Given the description of an element on the screen output the (x, y) to click on. 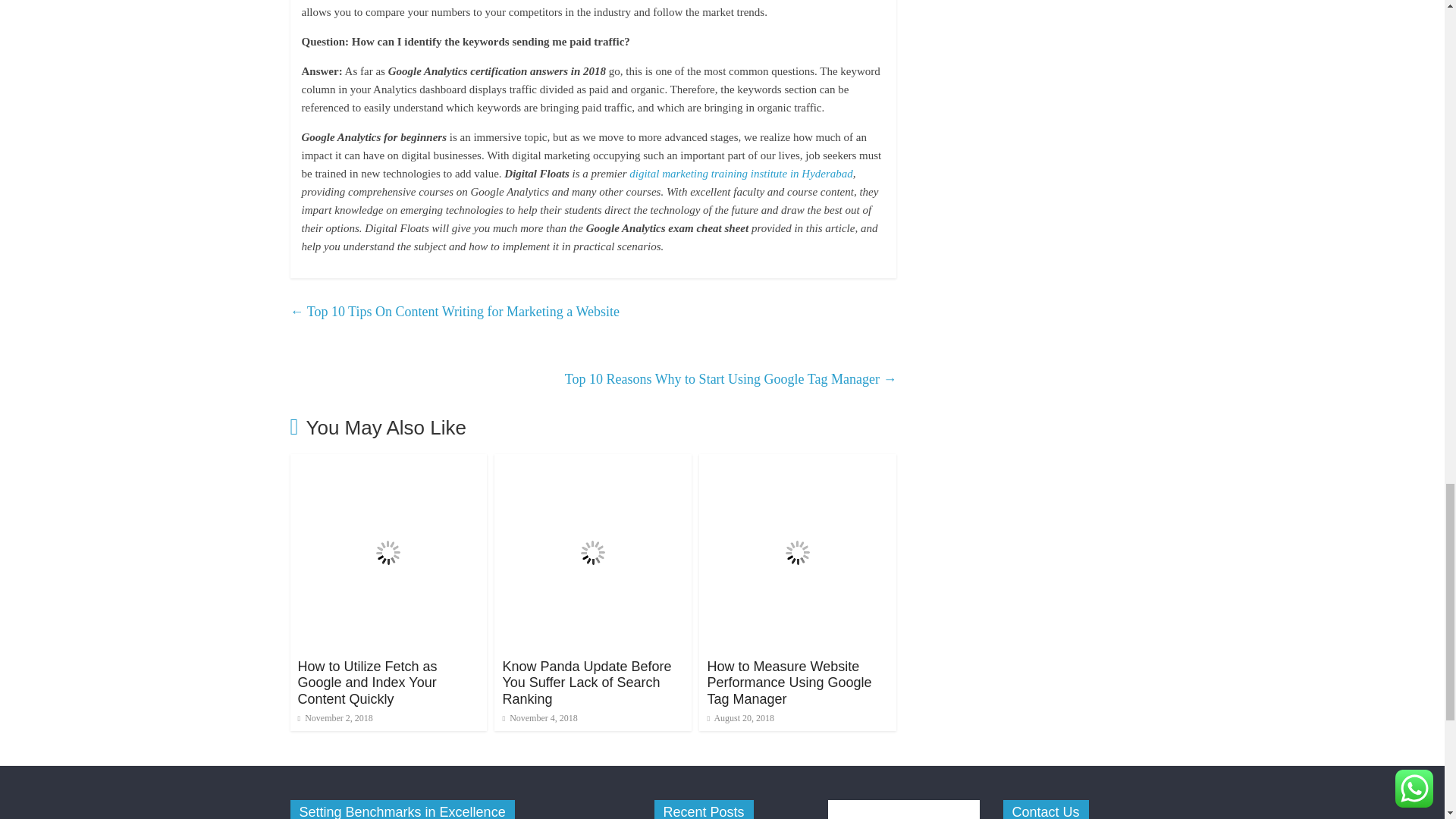
2:04 pm (740, 717)
4:27 am (539, 717)
9:20 am (334, 717)
digital marketing training institute in Hyderabad (740, 173)
Know Panda Update Before You Suffer Lack of Search Ranking (586, 682)
How to Measure Website Performance Using Google Tag Manager (788, 682)
Know Panda Update Before You Suffer Lack of Search Ranking (593, 463)
How to Measure Website Performance Using Google Tag Manager (797, 463)
